Given the description of an element on the screen output the (x, y) to click on. 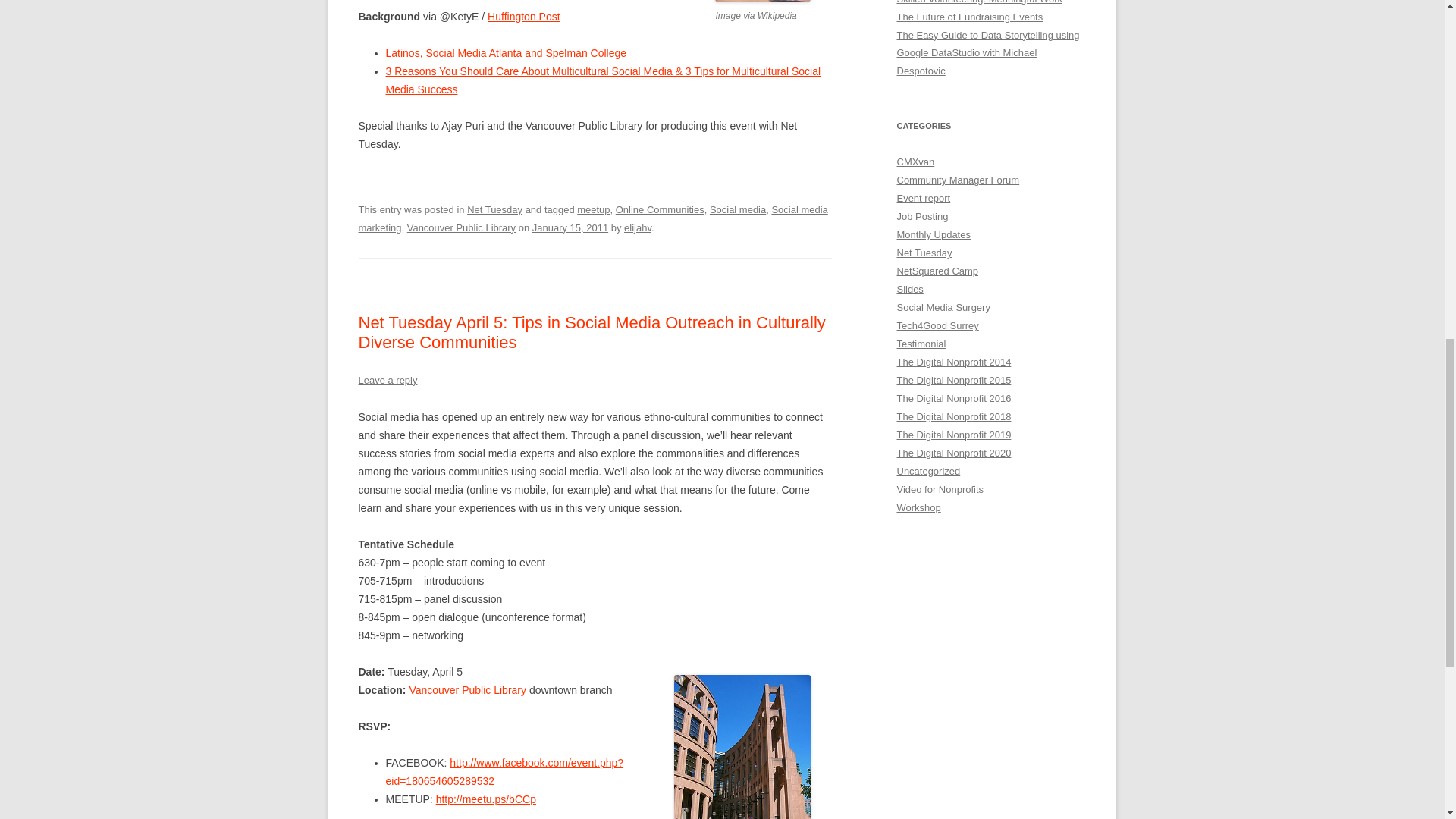
Net Tuesday (494, 209)
Vancouver Public Library (467, 689)
Vancouver Public Library (467, 689)
Online Communities (659, 209)
Leave a reply (387, 379)
Huffington Post (523, 16)
10:34 pm (570, 227)
January 15, 2011 (570, 227)
The Huffington Post (523, 16)
